Given the description of an element on the screen output the (x, y) to click on. 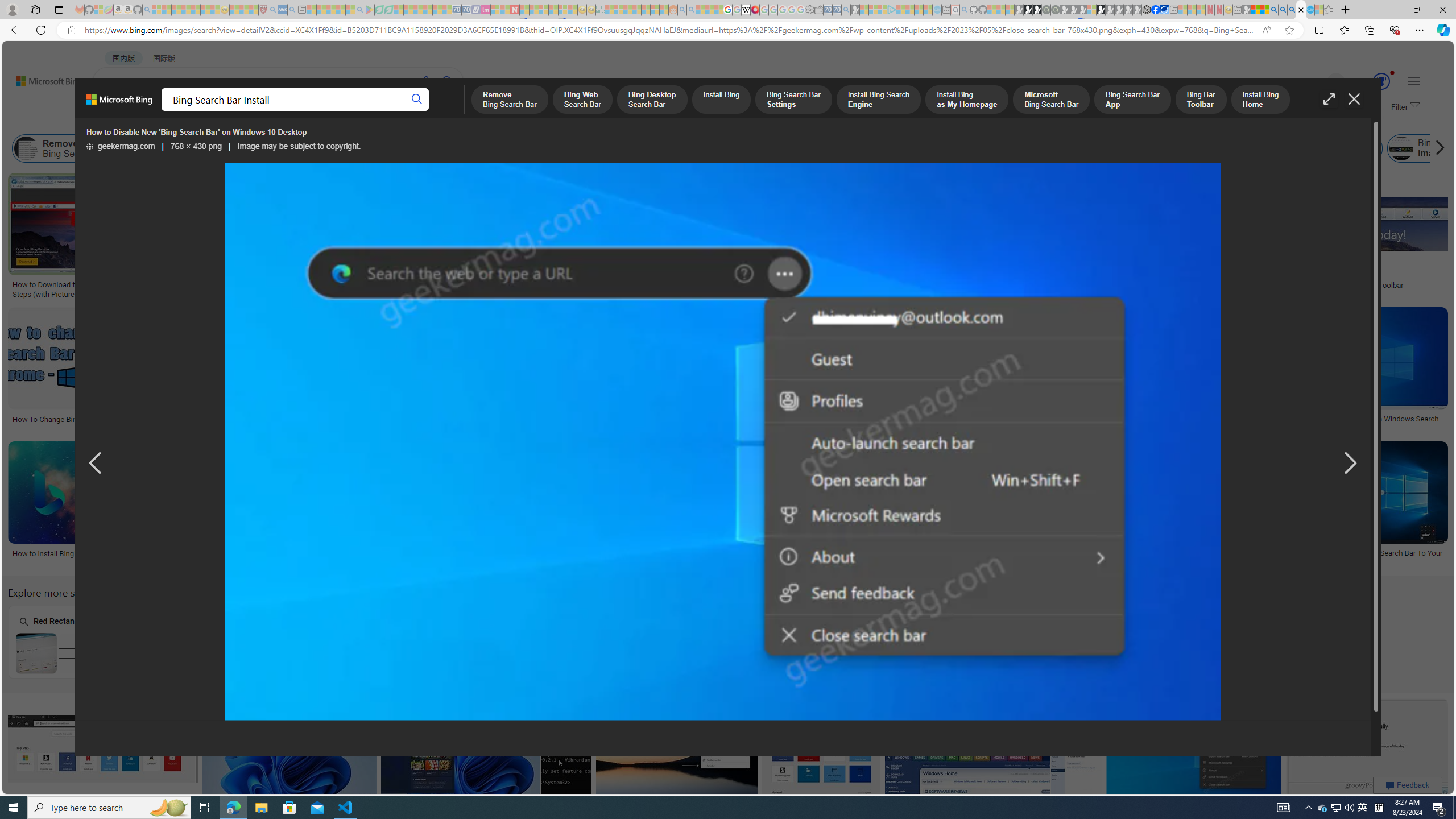
Remove Bing Search Bar (25, 148)
Class: b_pri_nav_svg (240, 112)
Microsoft Bing Search Bar (828, 148)
geekermag.com (119, 146)
Microsoft Bing Search Bar (788, 148)
Bing Search Bar Enter Key Enter Key (370, 642)
Bing Mugs (704, 246)
How To Change Bing Search Bar To Google Windows 10 (745, 557)
